Given the description of an element on the screen output the (x, y) to click on. 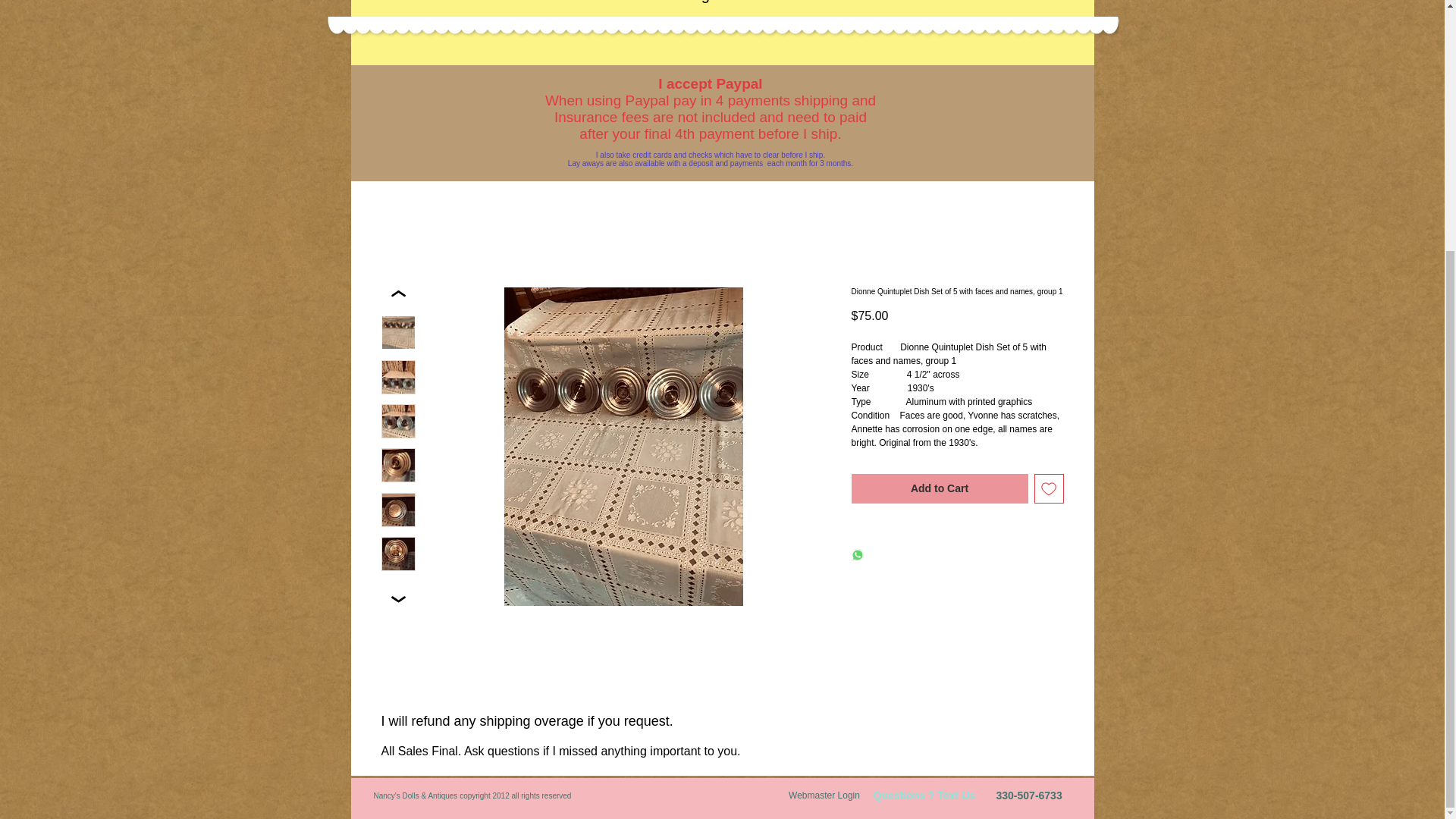
Online Catalog (658, 17)
Welcome (535, 17)
About Us (781, 17)
Contact Us (904, 17)
Home (413, 17)
